Given the description of an element on the screen output the (x, y) to click on. 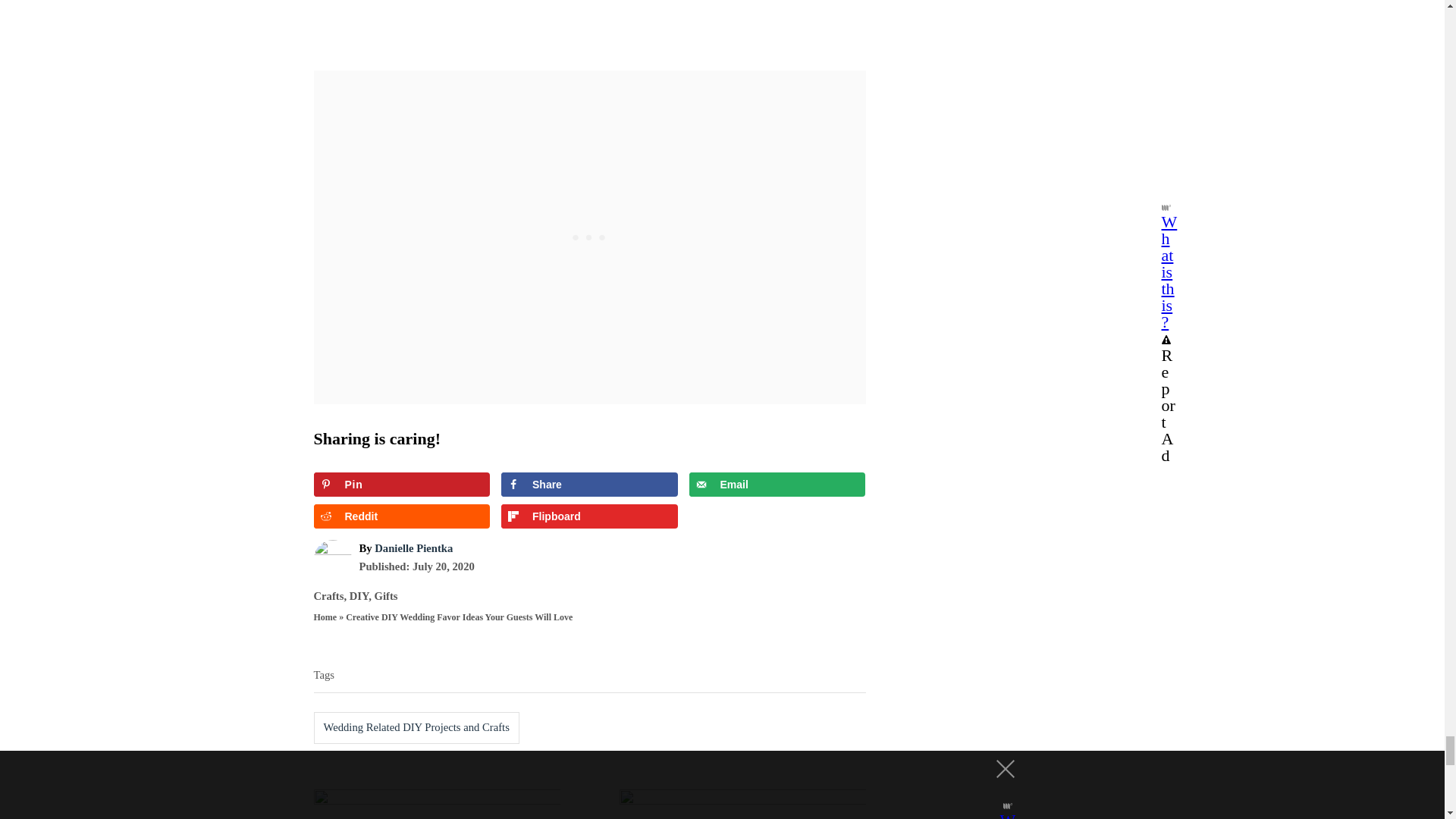
Save to Pinterest (402, 484)
Share on Facebook (589, 484)
Send over email (776, 484)
